Given the description of an element on the screen output the (x, y) to click on. 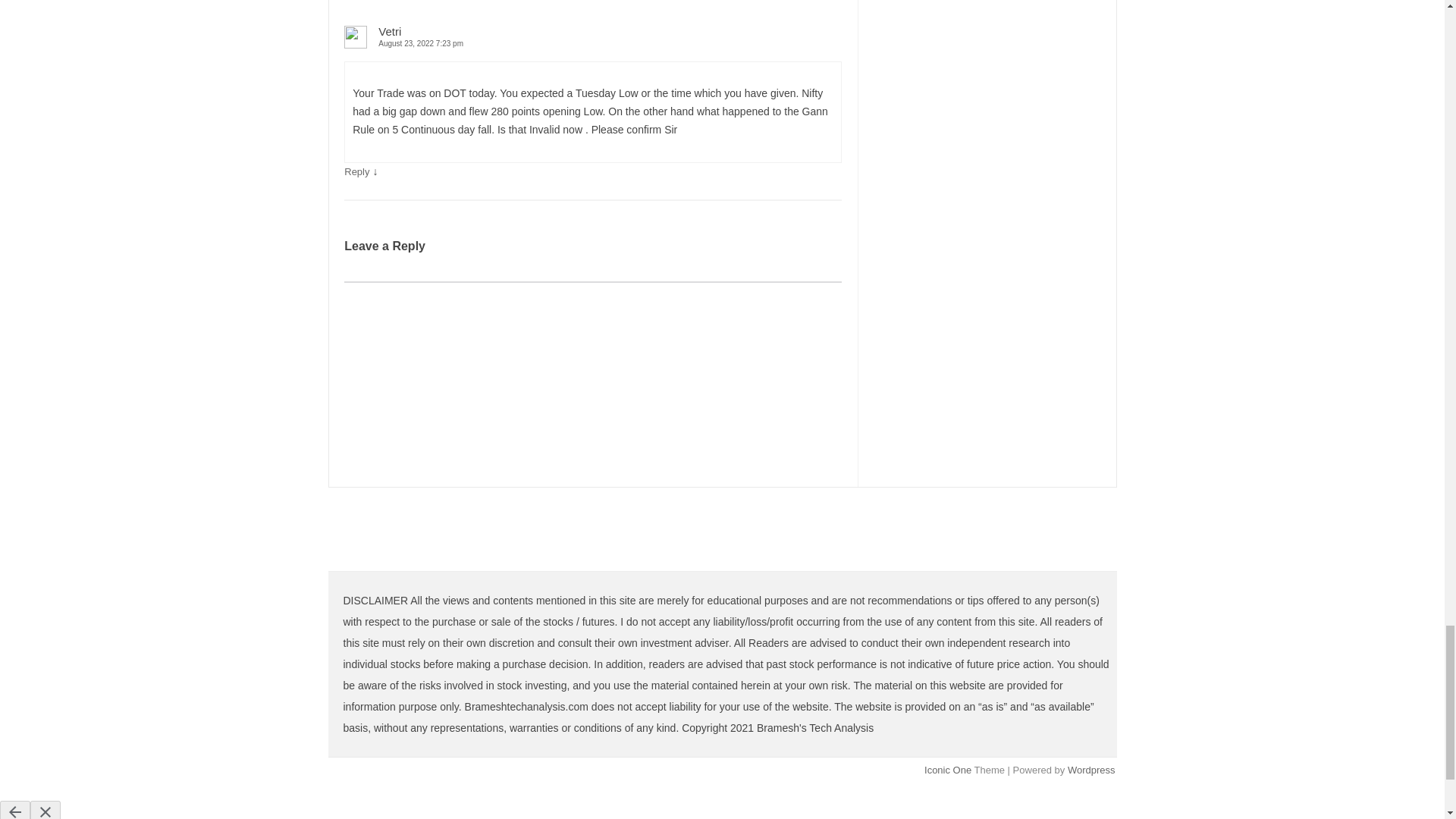
Reply (356, 171)
August 23, 2022 7:23 pm (592, 42)
